Given the description of an element on the screen output the (x, y) to click on. 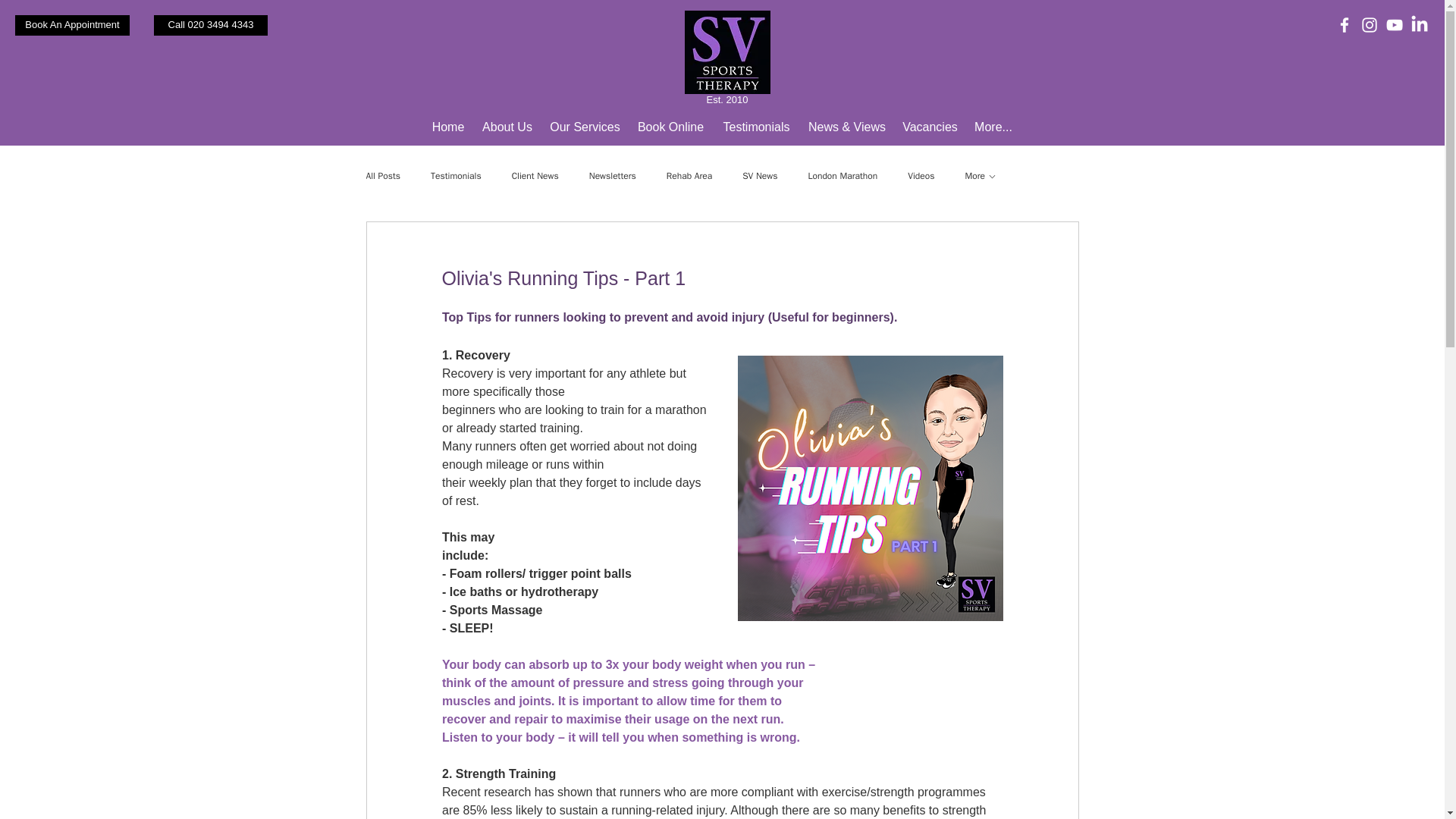
All Posts (382, 175)
Home (448, 126)
SV News (759, 175)
Rehab Area (688, 175)
Testimonials (455, 175)
Call 020 3494 4343 (210, 25)
London Marathon (842, 175)
Testimonials (756, 126)
Book An Appointment (71, 25)
Client News (535, 175)
